Given the description of an element on the screen output the (x, y) to click on. 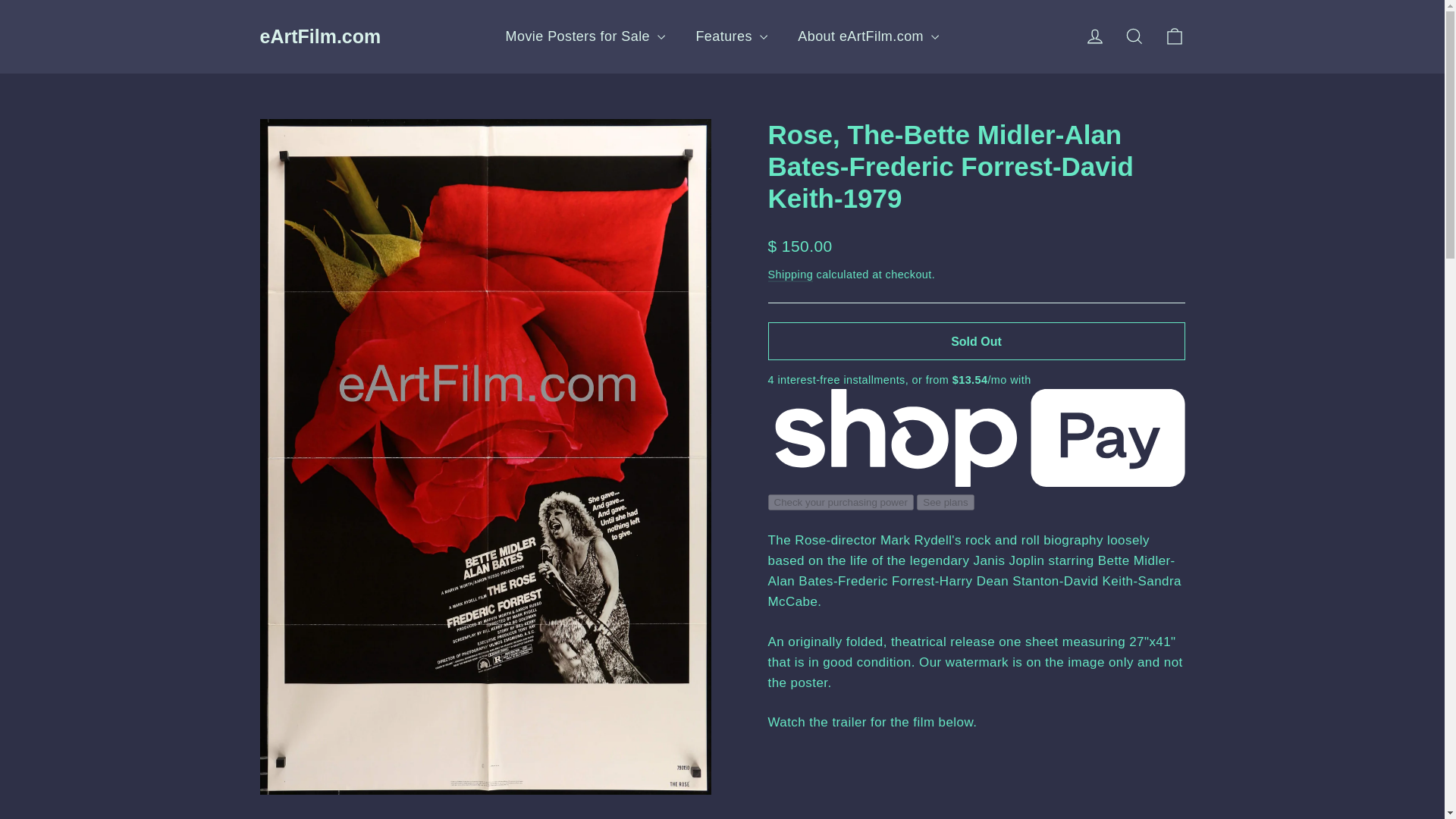
account (1094, 35)
icon-search (1095, 36)
eArtFilm.com (1134, 36)
icon-bag-minimal (1134, 35)
